Given the description of an element on the screen output the (x, y) to click on. 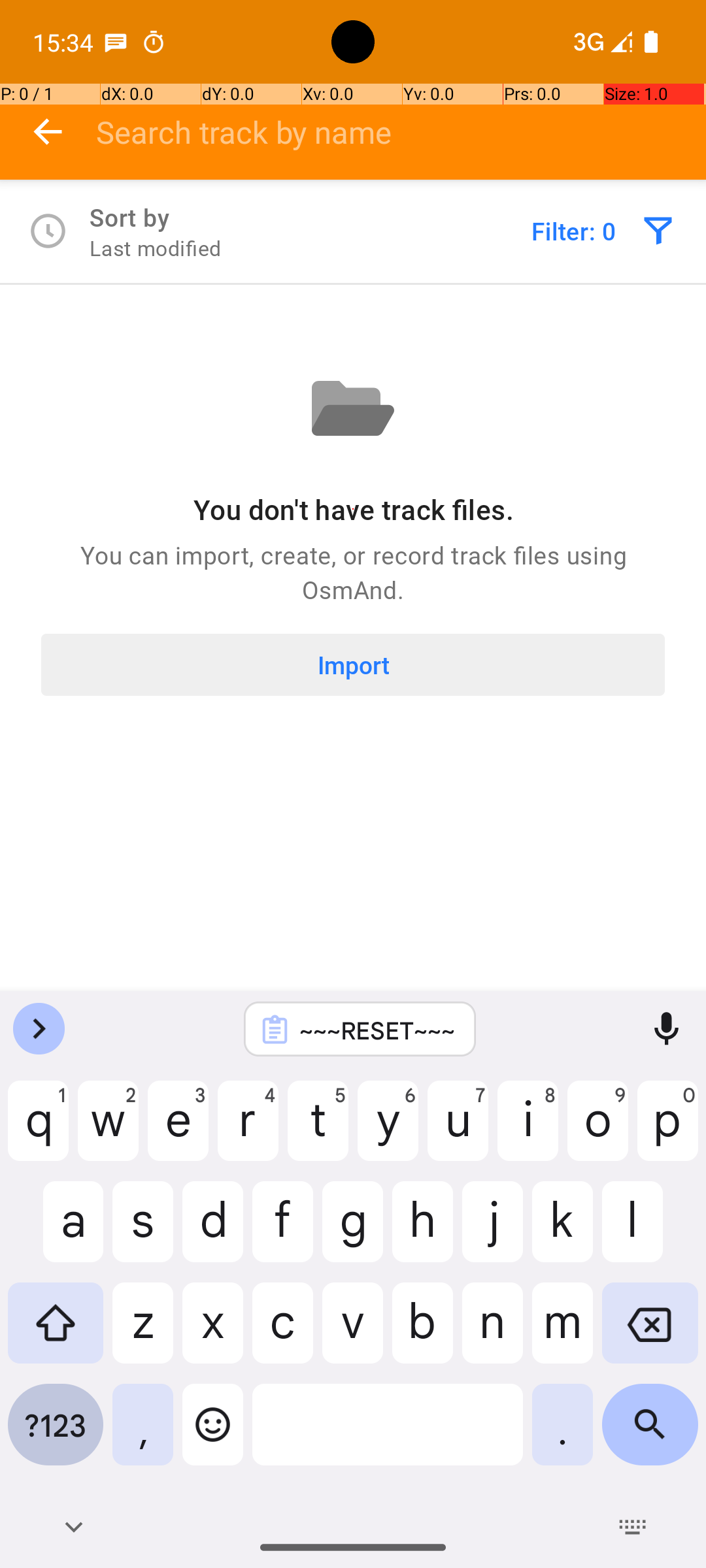
backward Element type: android.widget.ImageButton (48, 131)
Search track by name Element type: android.widget.EditText (401, 131)
You don't have track files. Element type: android.widget.TextView (352, 508)
You can import, create, or record track files using OsmAnd. Element type: android.widget.TextView (352, 572)
Last modified Element type: android.widget.TextView (155, 247)
Filter: 0 Element type: android.widget.TextView (573, 230)
Import Element type: android.widget.TextView (352, 664)
